Given the description of an element on the screen output the (x, y) to click on. 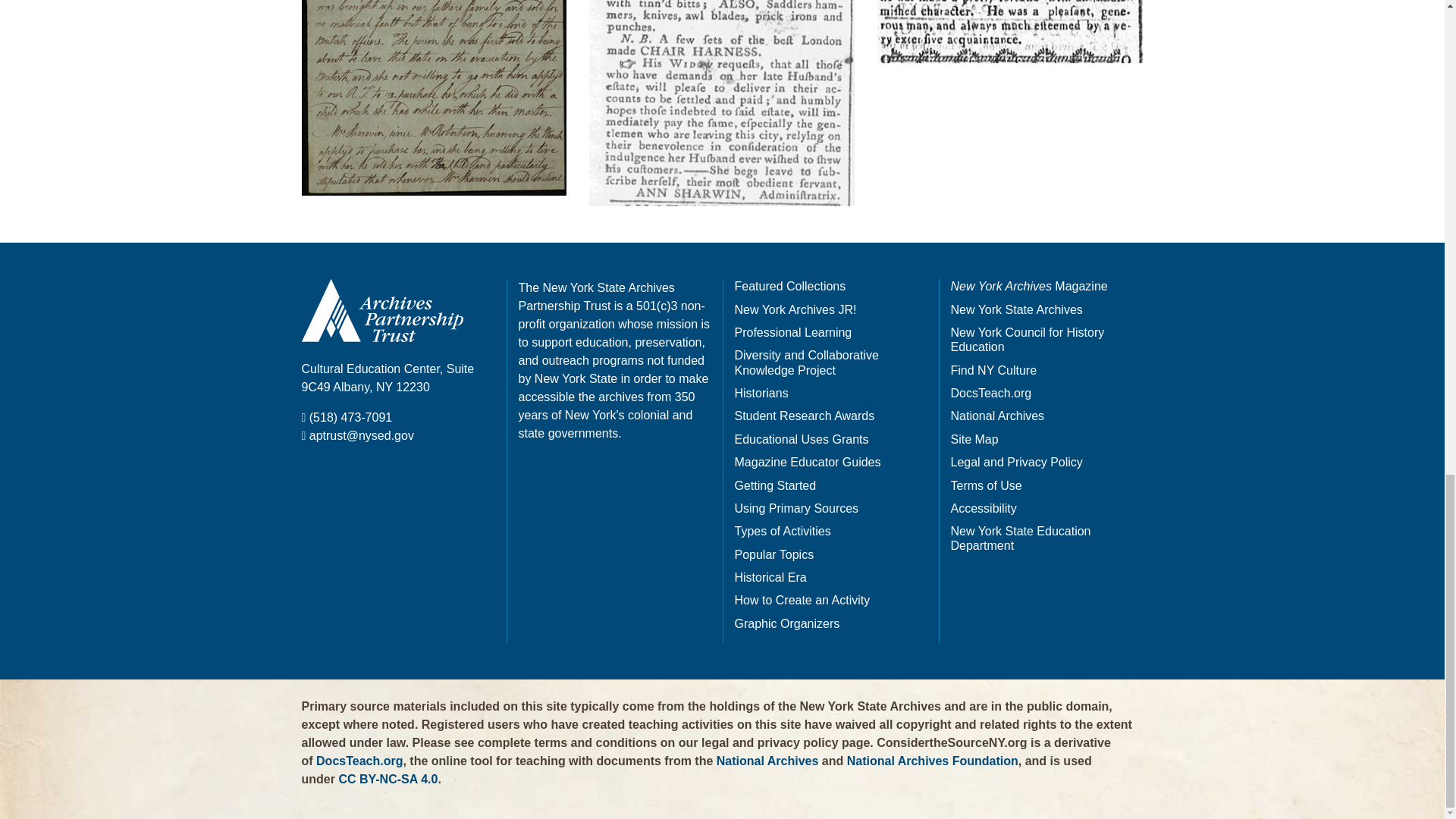
Obituary About the same time died (1009, 31)
Letter from Robert Townsend to Kirk and Lushington (434, 98)
